Given the description of an element on the screen output the (x, y) to click on. 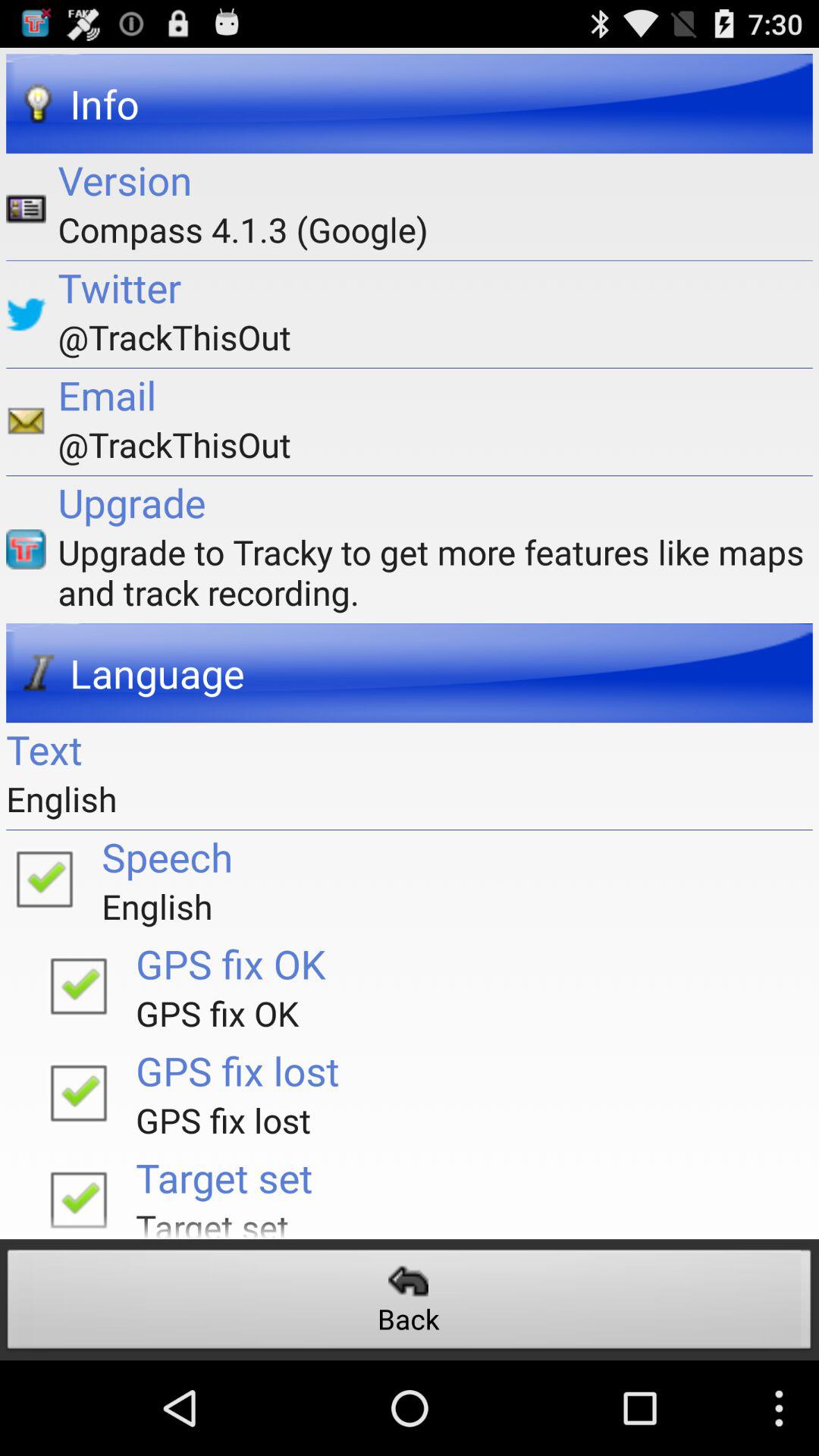
gps fix lost traduction is ok/wrong (78, 1091)
